Given the description of an element on the screen output the (x, y) to click on. 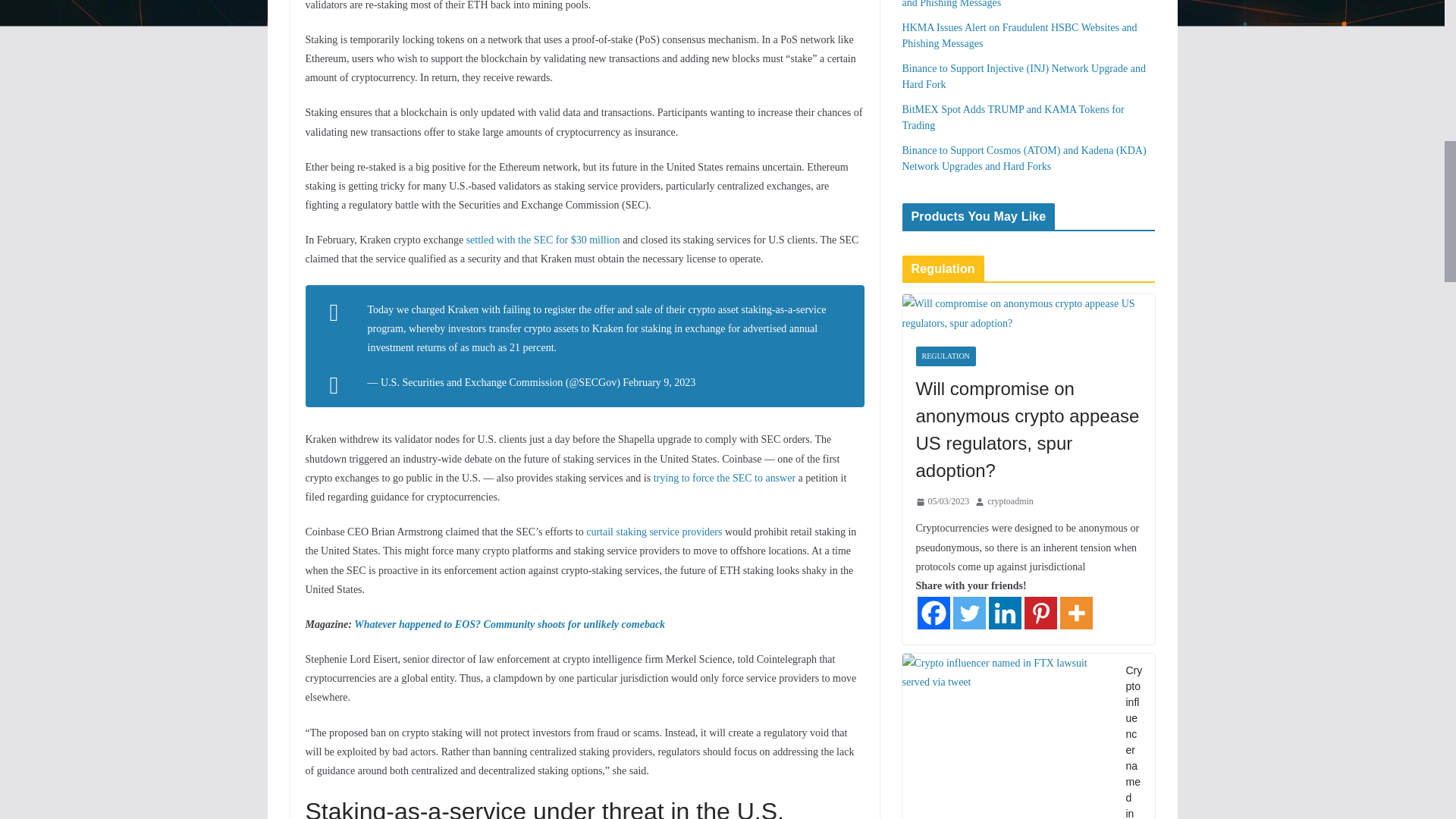
trying to force the SEC to answer (723, 478)
February 9, 2023 (659, 382)
curtail staking service providers (654, 531)
